Given the description of an element on the screen output the (x, y) to click on. 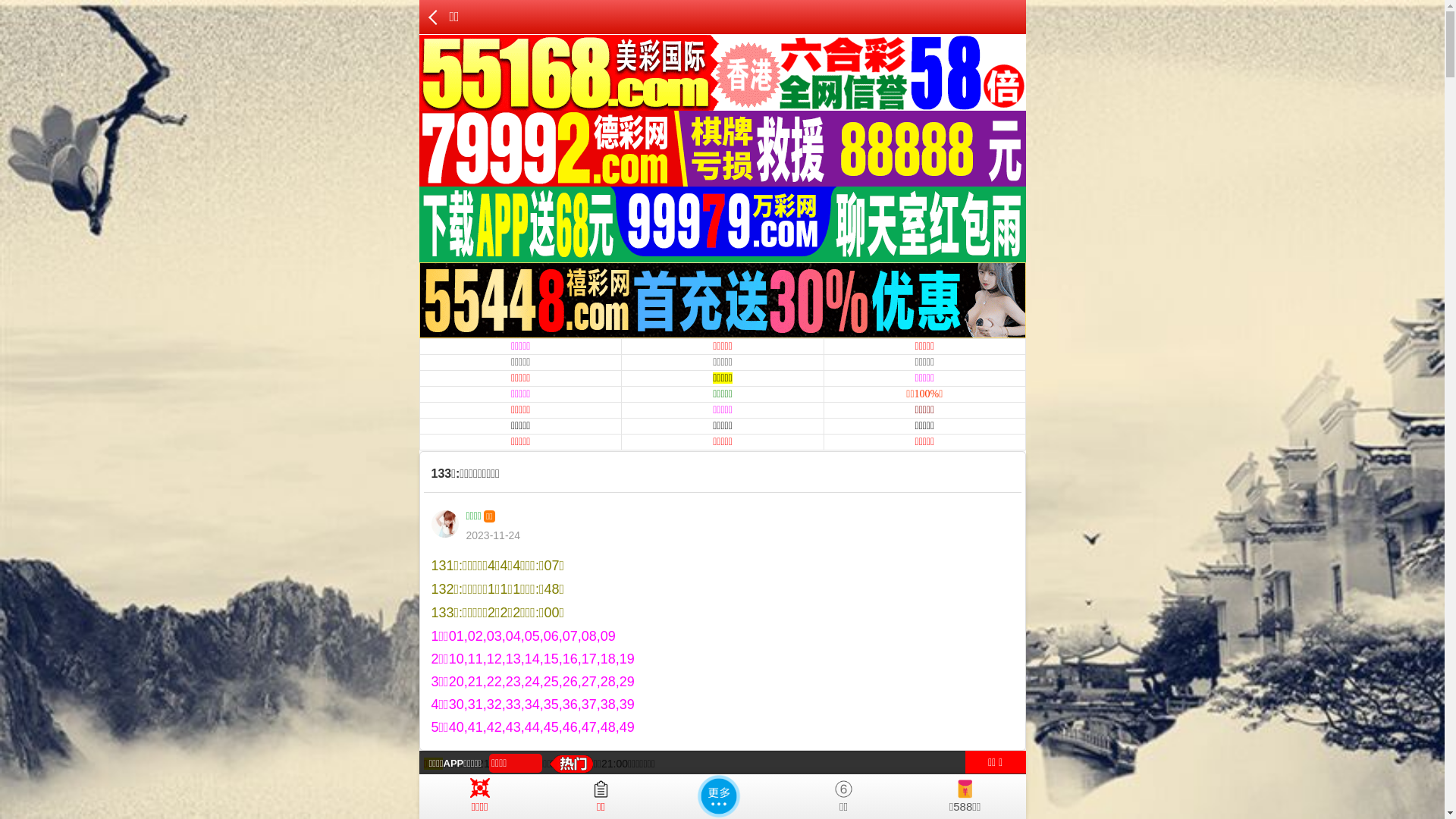
32 Element type: text (767, 805)
1851 Element type: text (681, 805)
